Given the description of an element on the screen output the (x, y) to click on. 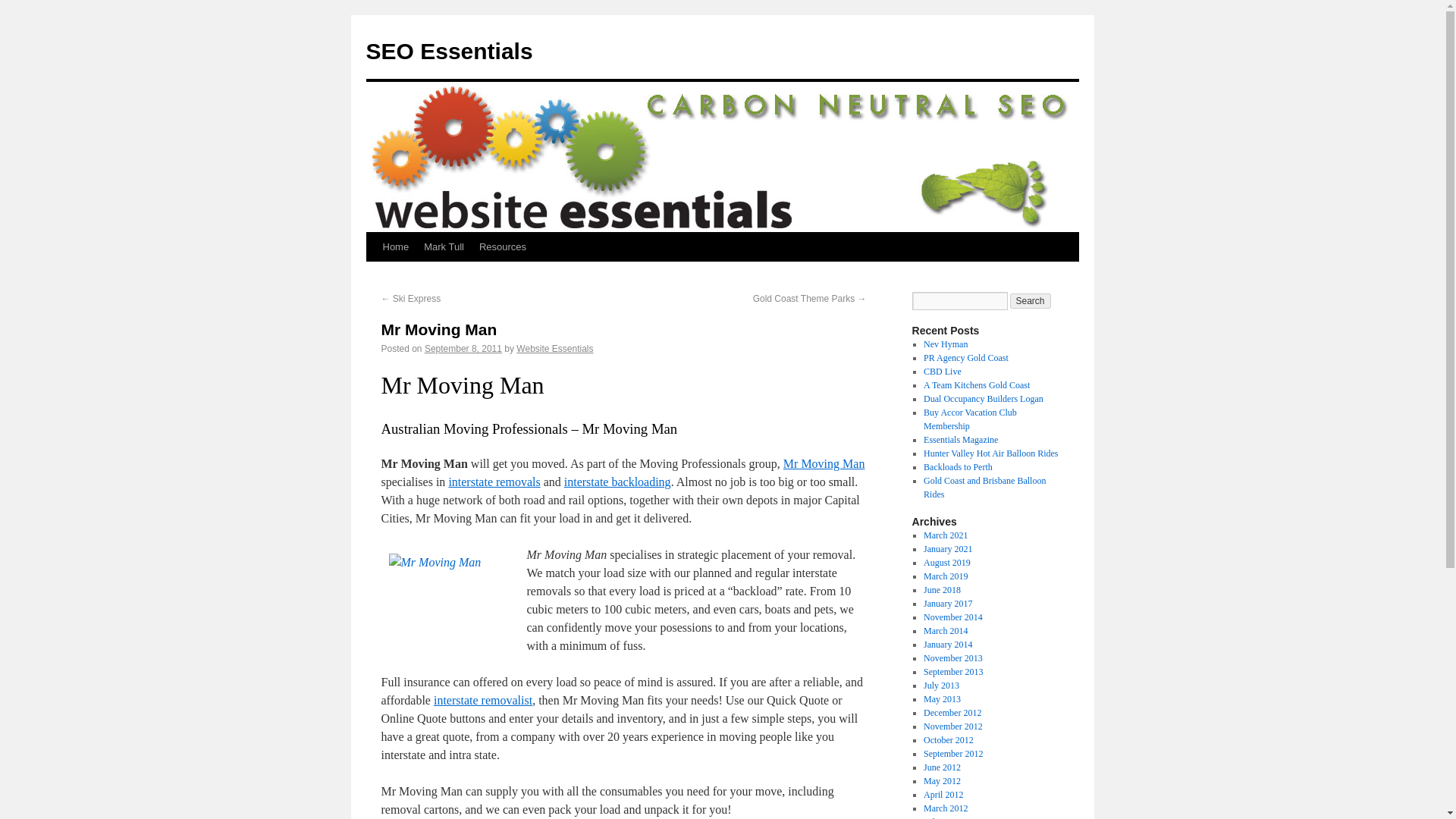
Buy Accor Vacation Club Membership (969, 419)
A Team Kitchens Gold Coast (976, 385)
Essentials Magazine (960, 439)
Mr Moving Man (823, 463)
SEO Essentials (448, 50)
Mark Tull (443, 246)
interstate removalist (482, 699)
June 2018 (941, 589)
SEO Essentials (448, 50)
November 2014 (952, 616)
March 2014 (945, 630)
interstate removals (494, 481)
Dual Occupancy Builders Logan (983, 398)
Home (395, 246)
March 2021 (945, 534)
